Given the description of an element on the screen output the (x, y) to click on. 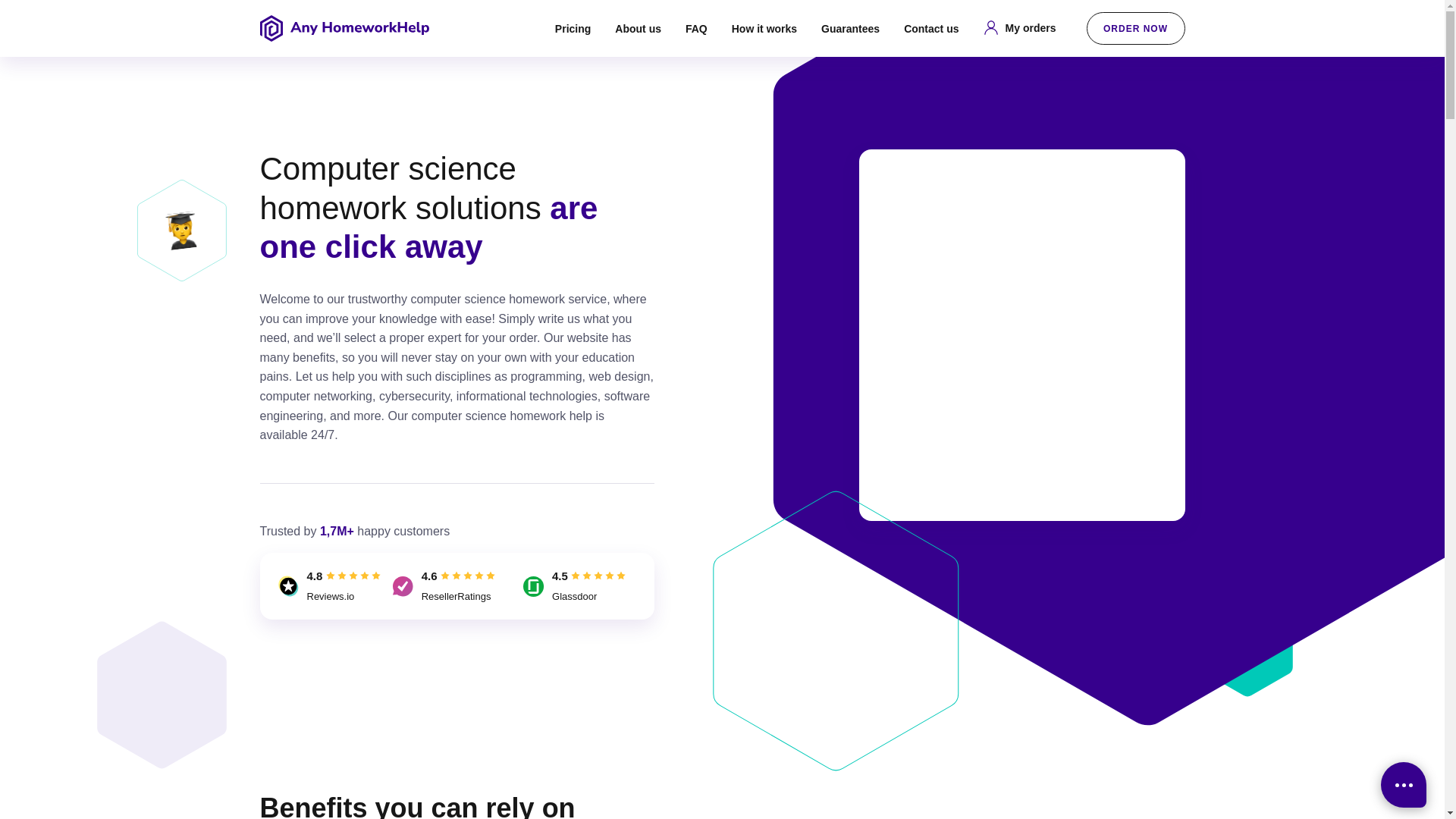
Contact us (931, 28)
My orders (1018, 27)
FAQ (696, 28)
ORDER NOW (1135, 28)
Pricing (572, 28)
Guarantees (850, 28)
How it works (764, 28)
About us (637, 28)
